Given the description of an element on the screen output the (x, y) to click on. 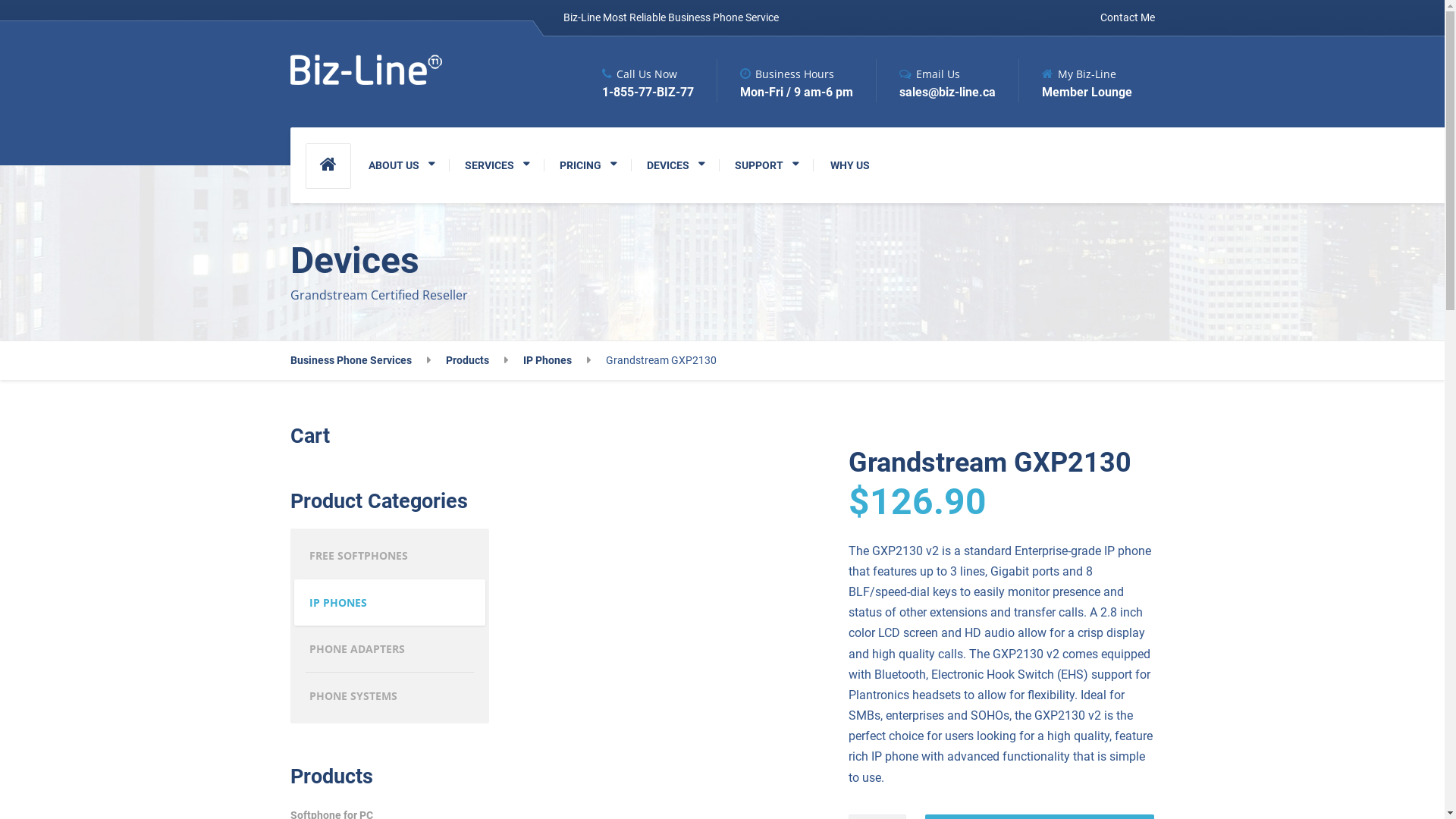
Products Element type: text (476, 360)
ABOUT US Element type: text (401, 165)
IP Phones Element type: text (556, 360)
Call Us Now
1-855-77-BIZ-77 Element type: text (647, 80)
SERVICES Element type: text (495, 165)
DEVICES Element type: text (674, 165)
My Biz-Line
Member Lounge Element type: text (1074, 80)
PHONE SYSTEMS Element type: text (390, 695)
Business Phone Services Element type: text (359, 360)
Email Us
sales@biz-line.ca Element type: text (934, 80)
FREE SOFTPHONES Element type: text (390, 555)
PRICING Element type: text (587, 165)
PHONE ADAPTERS Element type: text (390, 648)
WHY US Element type: text (848, 165)
Contact Me Element type: text (1123, 17)
IP PHONES Element type: text (390, 602)
SUPPORT Element type: text (765, 165)
